Given the description of an element on the screen output the (x, y) to click on. 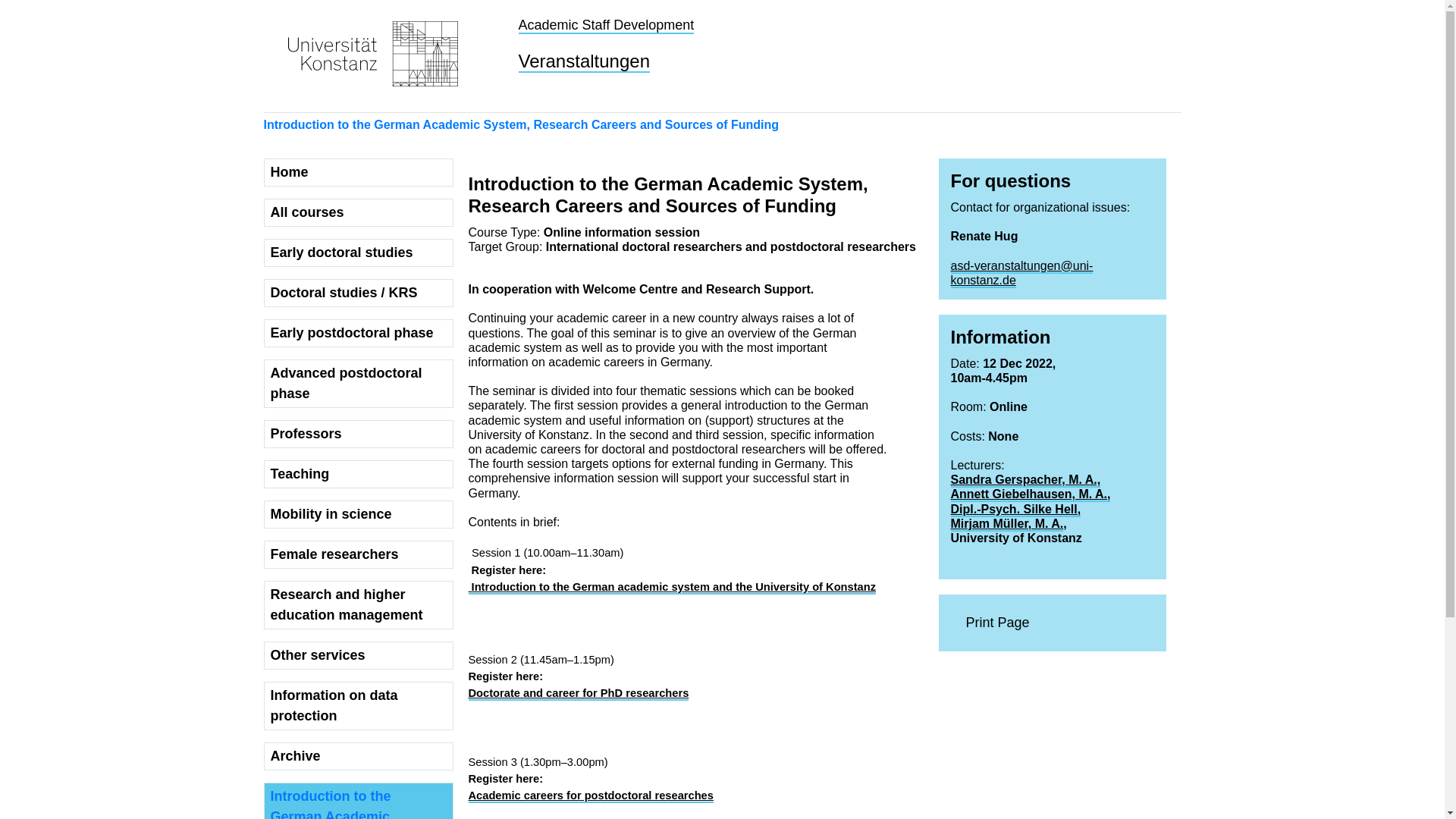
Doctorate and career for PhD researchers (578, 694)
Information on data protection (357, 705)
Research and higher education management (357, 604)
Academic careers for postdoctoral researches (590, 796)
Other services (357, 655)
Mobility in science (357, 514)
Early postdoctoral phase (357, 333)
All courses (357, 212)
Early doctoral studies (357, 252)
Print Page (1052, 622)
Academic Staff Development (606, 25)
Professors (357, 433)
Home (357, 172)
